Given the description of an element on the screen output the (x, y) to click on. 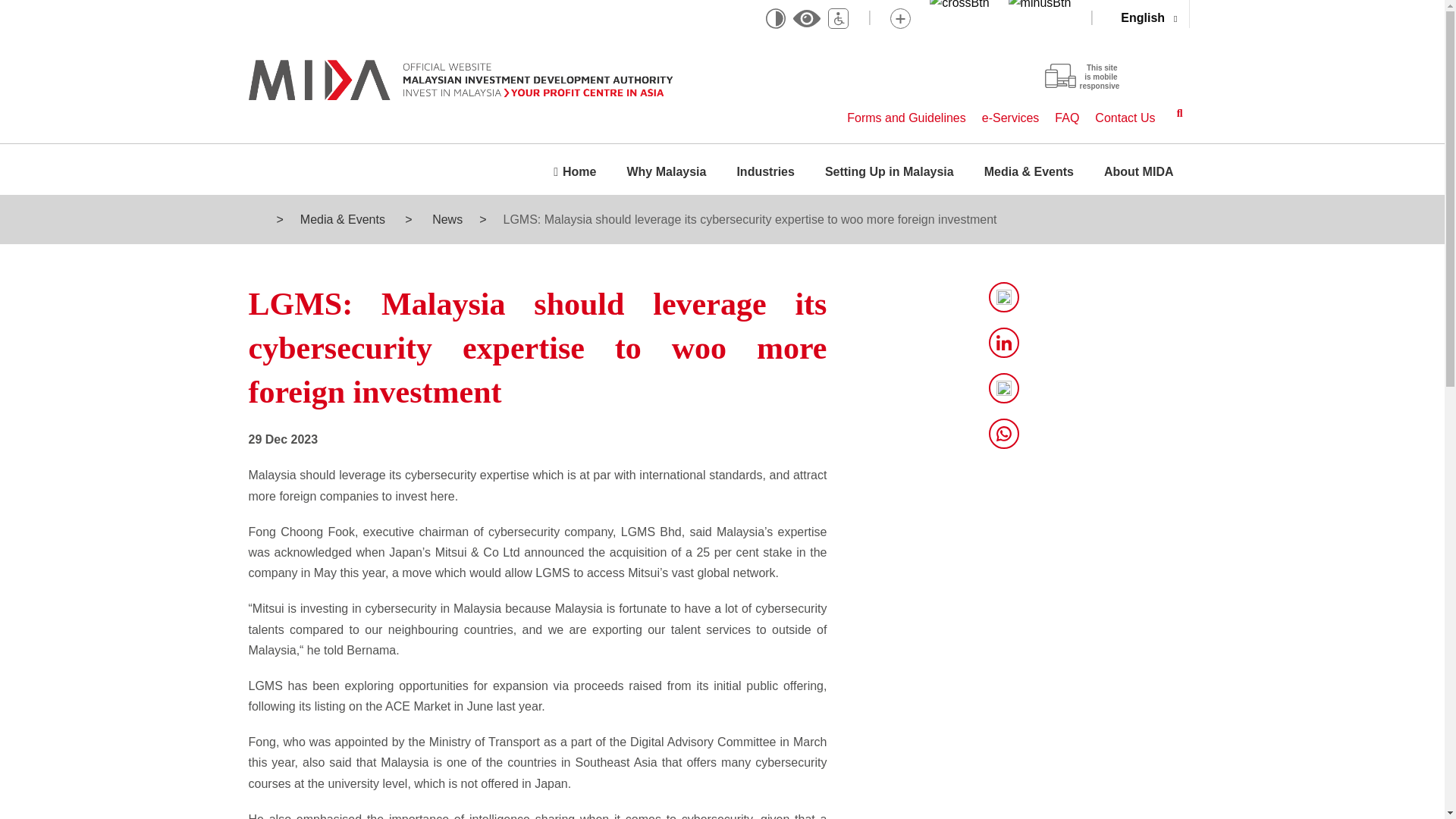
Twitter (1003, 296)
LinkedIn (1003, 342)
Go to News (446, 219)
WhatsApp (1003, 433)
Facebook (1003, 388)
